Given the description of an element on the screen output the (x, y) to click on. 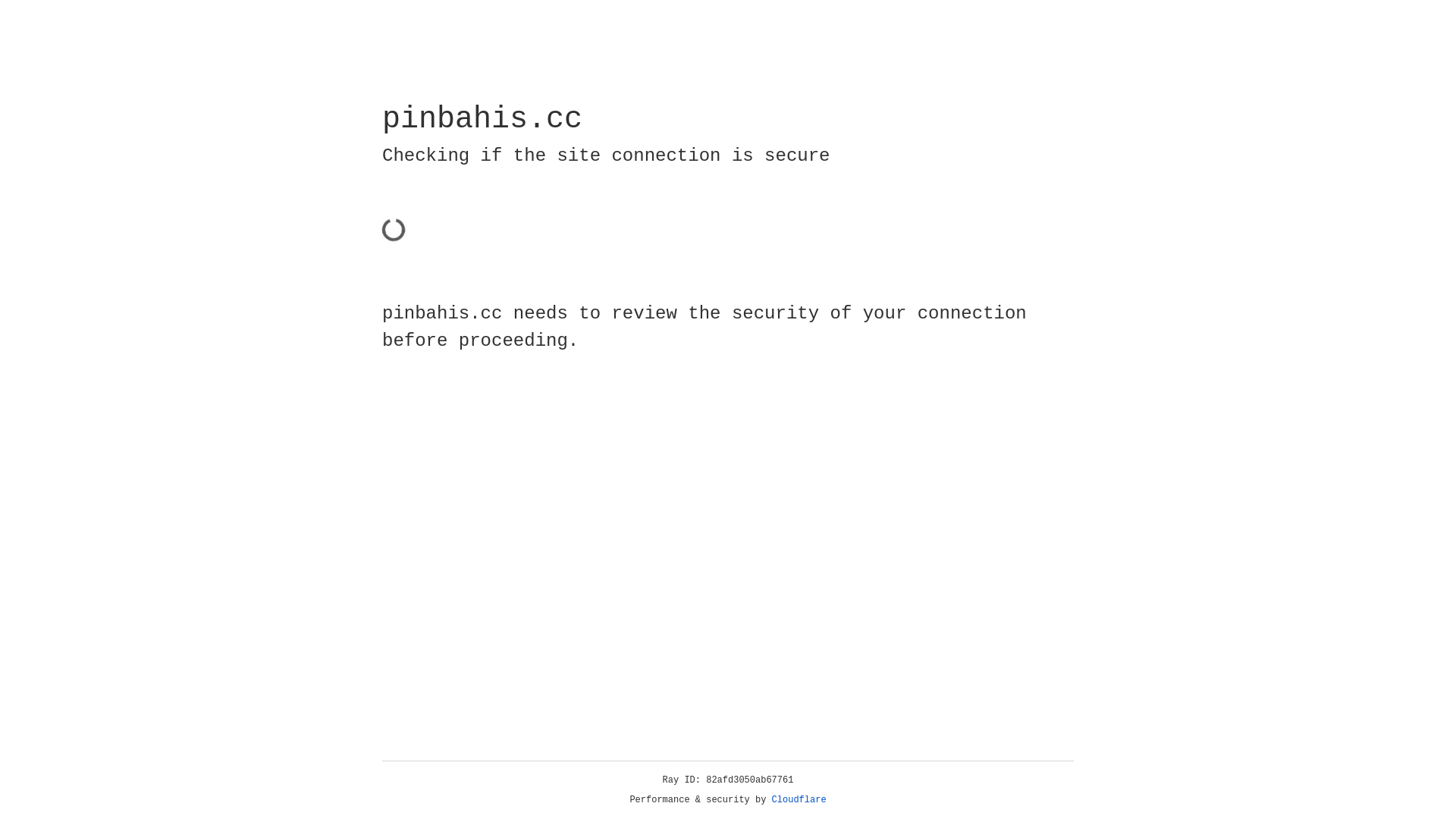
Cloudflare Element type: text (798, 799)
